Given the description of an element on the screen output the (x, y) to click on. 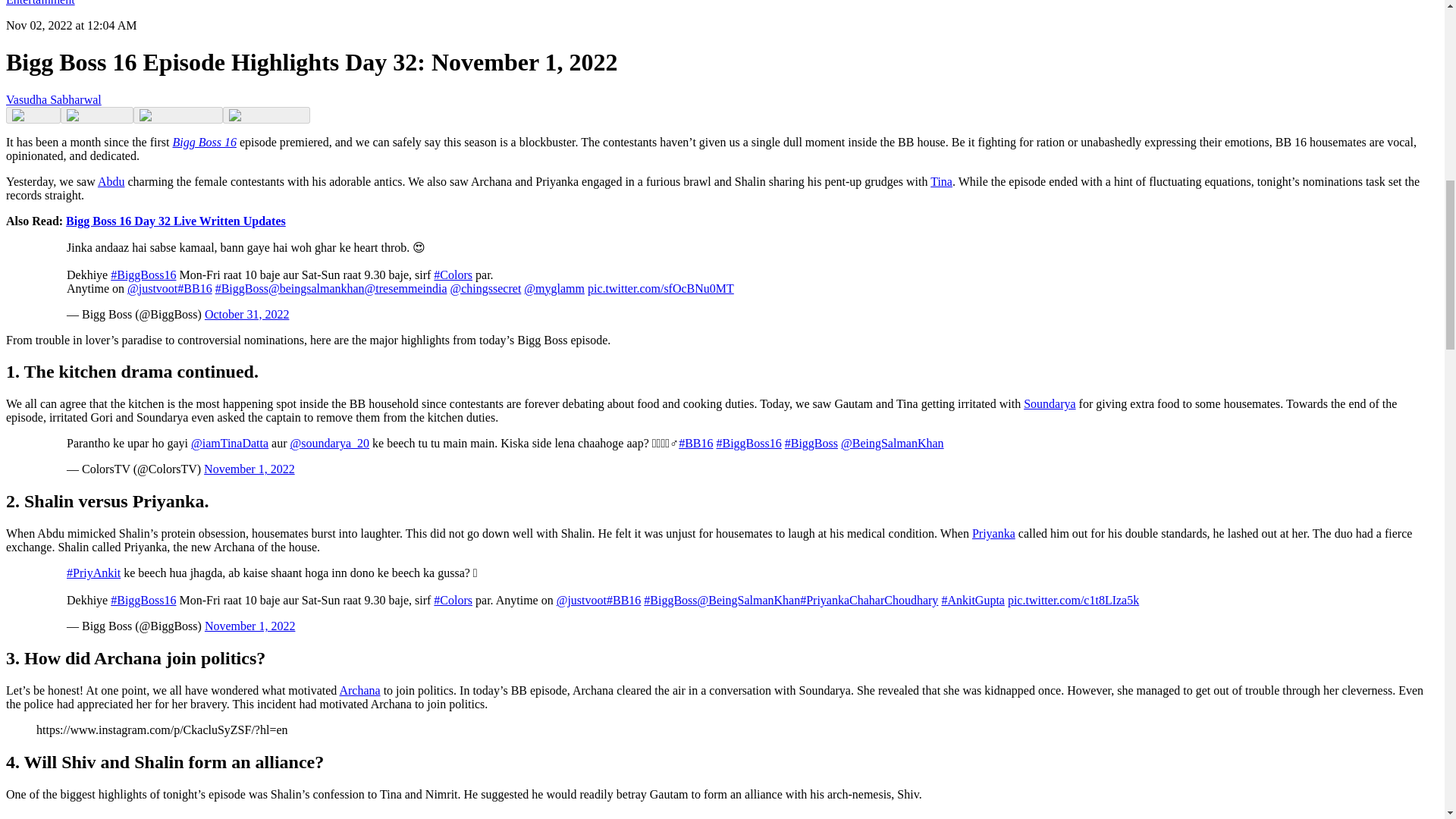
Soundarya (1049, 403)
Bigg Boss 16 (204, 141)
Abdu (111, 180)
Priyanka (993, 533)
Tina (941, 180)
Archana (359, 689)
